Given the description of an element on the screen output the (x, y) to click on. 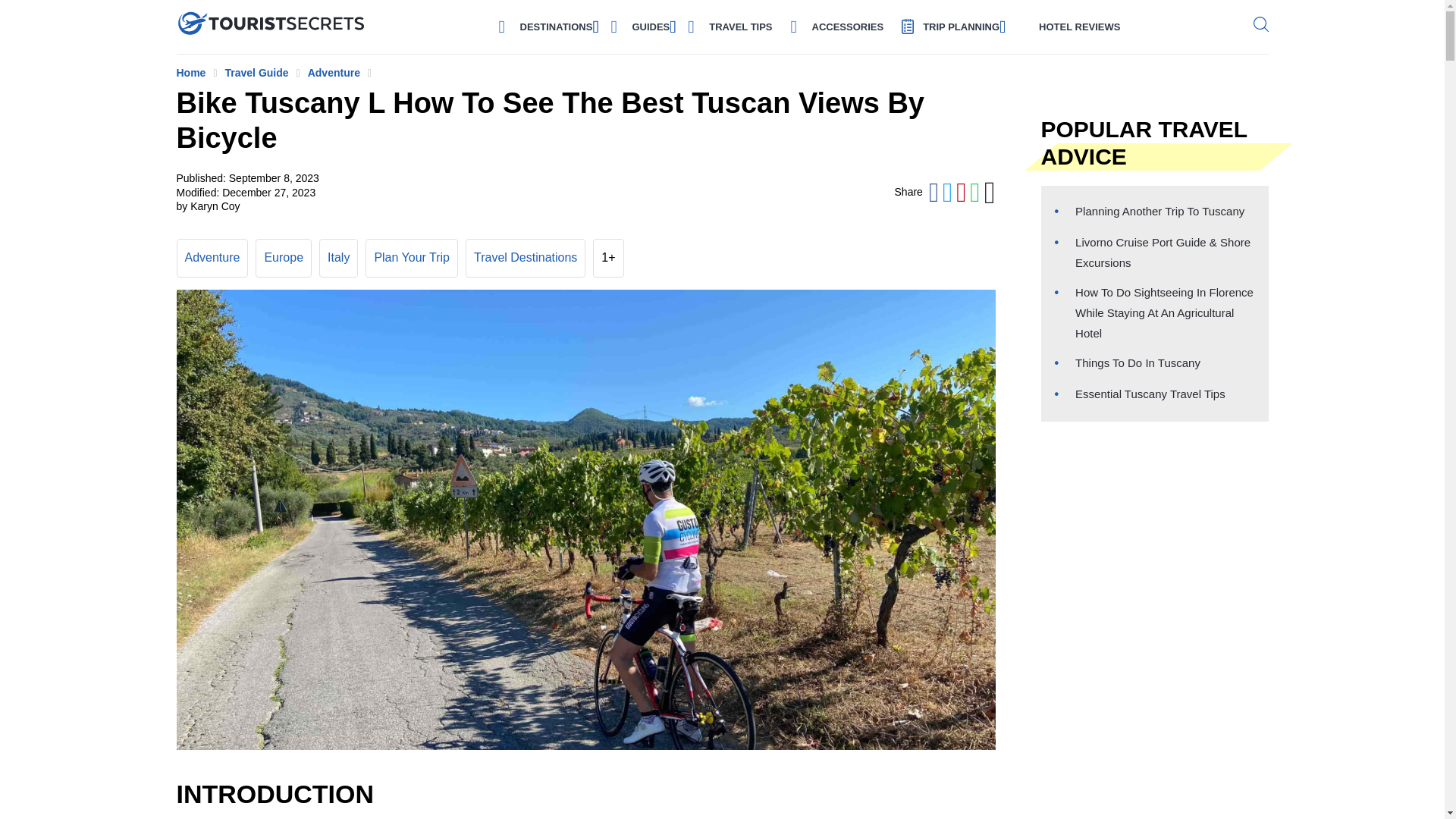
DESTINATIONS (555, 26)
